Given the description of an element on the screen output the (x, y) to click on. 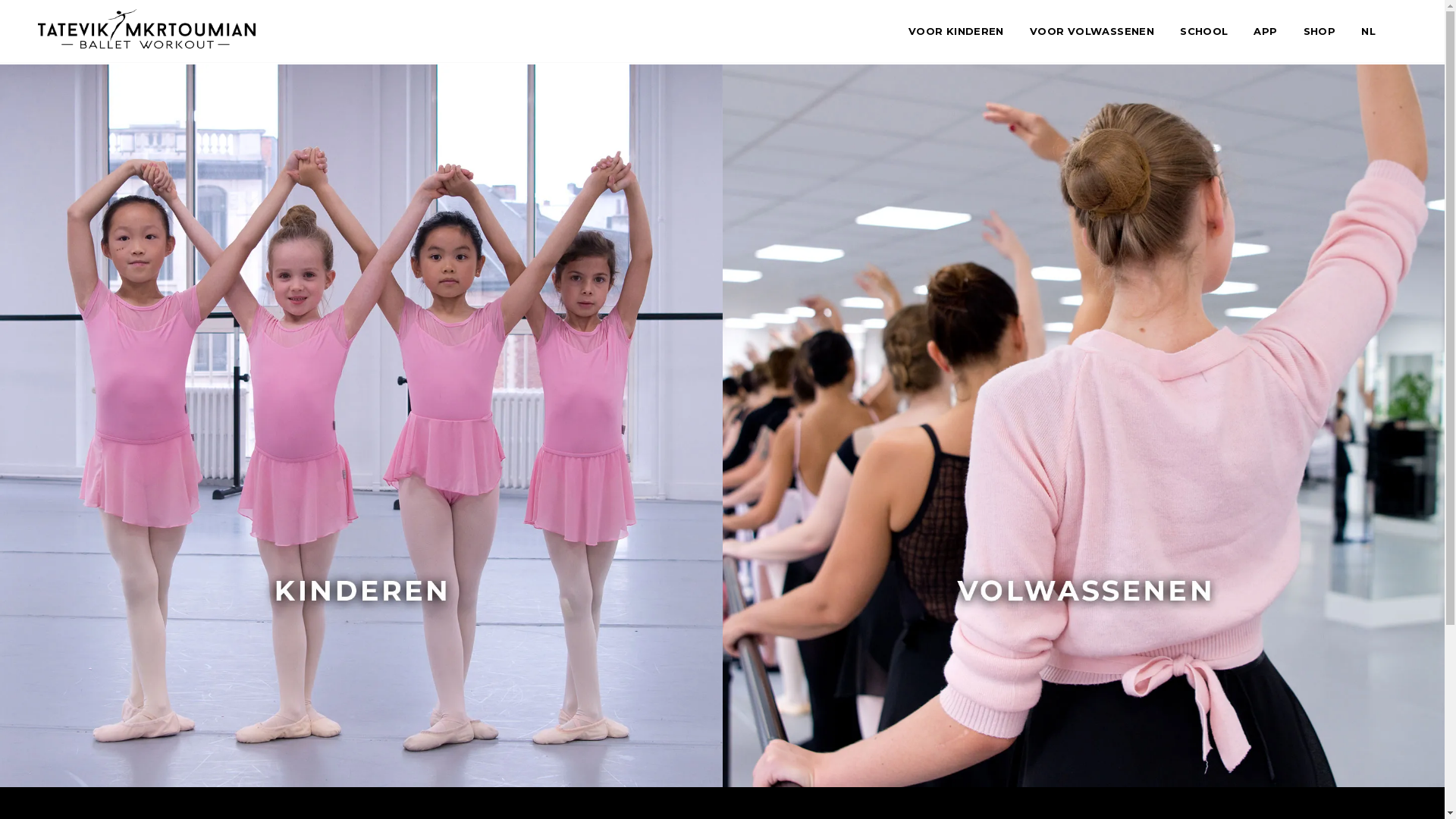
APP Element type: text (1265, 31)
VOOR VOLWASSENEN Element type: text (1091, 31)
NL Element type: text (1368, 31)
Log In Element type: text (721, 494)
SCHOOL Element type: text (1203, 31)
VOOR KINDEREN Element type: text (956, 31)
SHOP Element type: text (1319, 31)
